Given the description of an element on the screen output the (x, y) to click on. 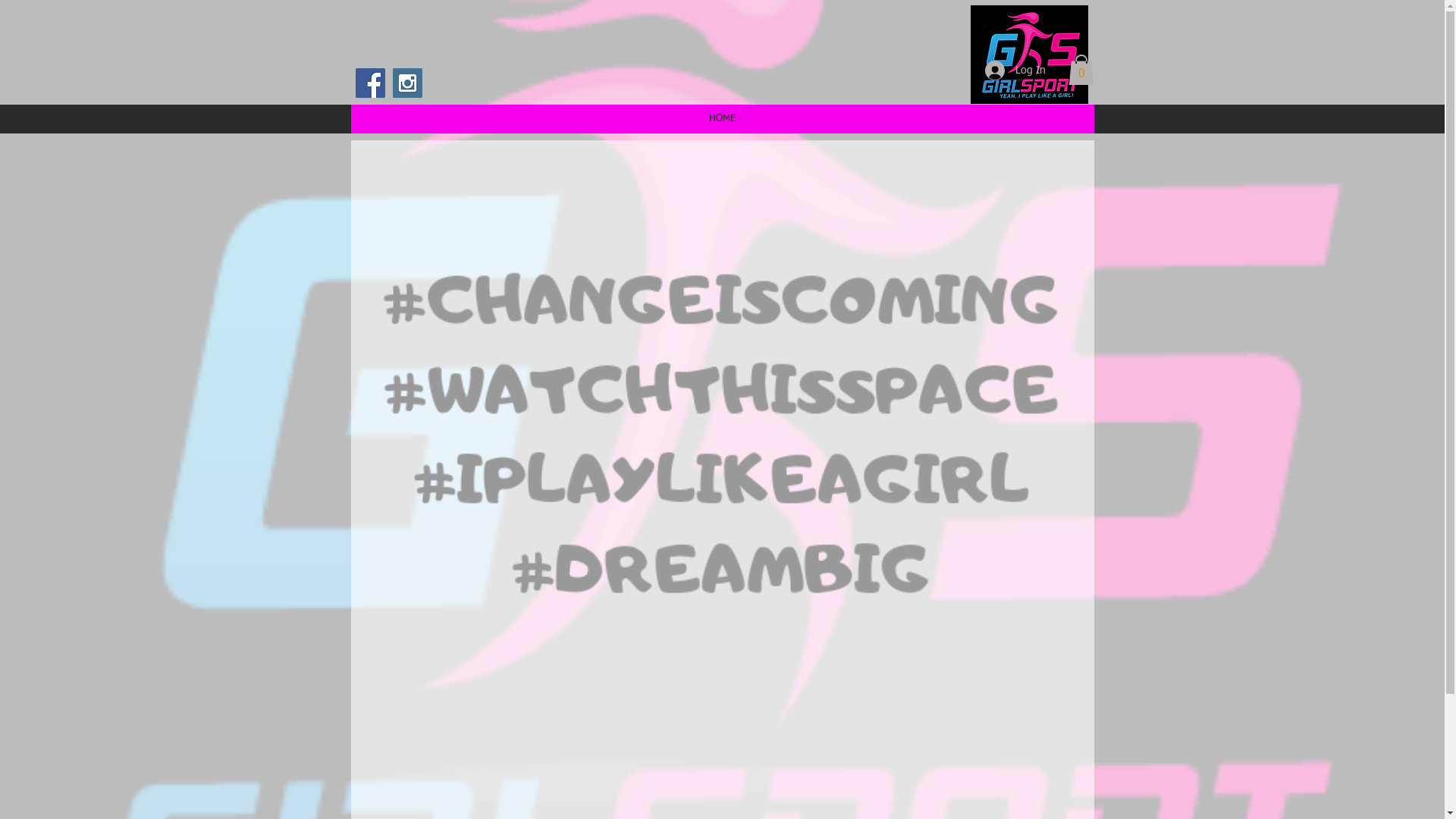
HOME Element type: text (721, 118)
Log In Element type: text (1014, 70)
0 Element type: text (1080, 69)
